Given the description of an element on the screen output the (x, y) to click on. 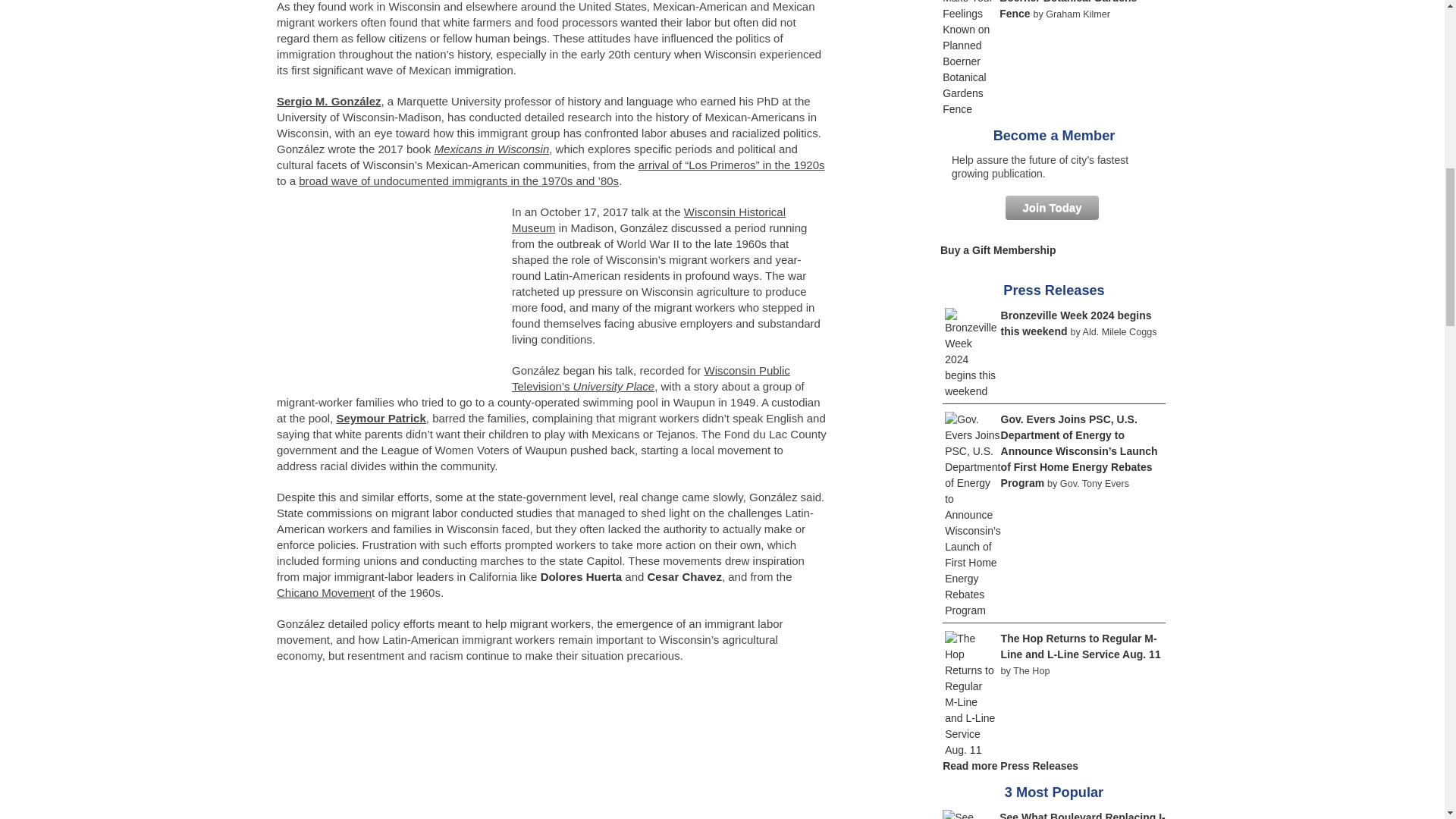
Wisconsin Historical Museum (649, 219)
Mexicans in Wisconsin (491, 148)
Seymour Patrick (380, 418)
